Given the description of an element on the screen output the (x, y) to click on. 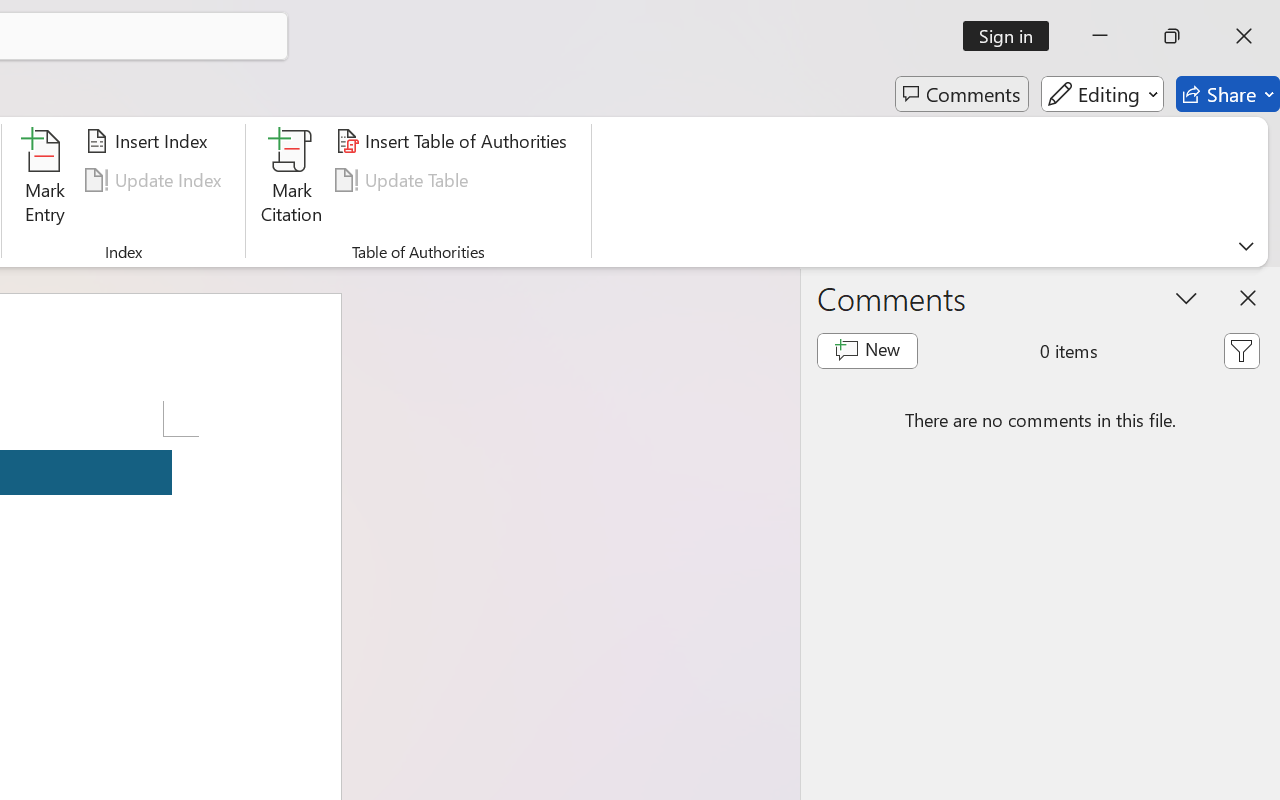
Update Table (404, 179)
